Given the description of an element on the screen output the (x, y) to click on. 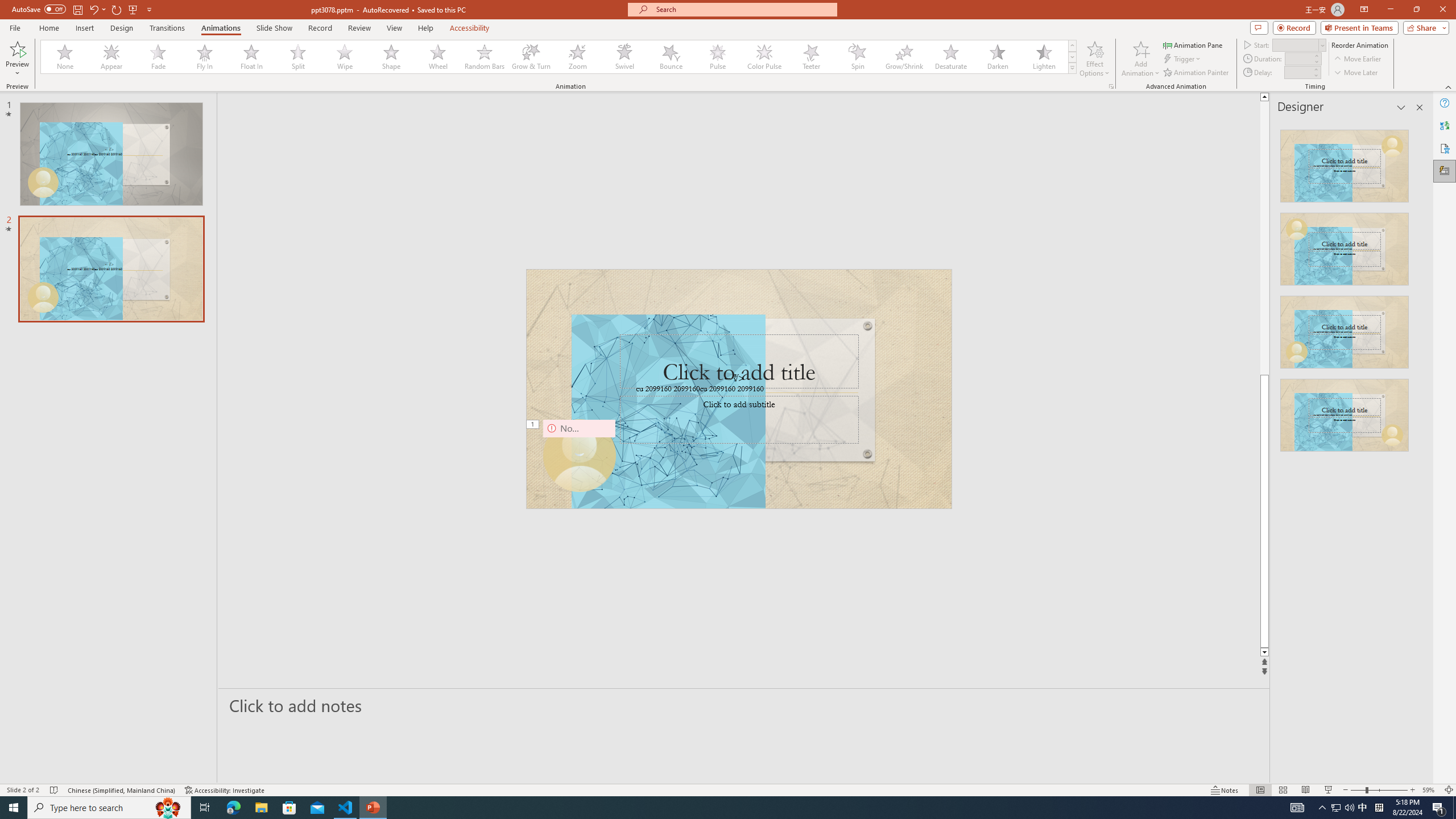
Desaturate (950, 56)
Swivel (624, 56)
Animation Delay (1297, 72)
Move Earlier (1357, 58)
None (65, 56)
